Given the description of an element on the screen output the (x, y) to click on. 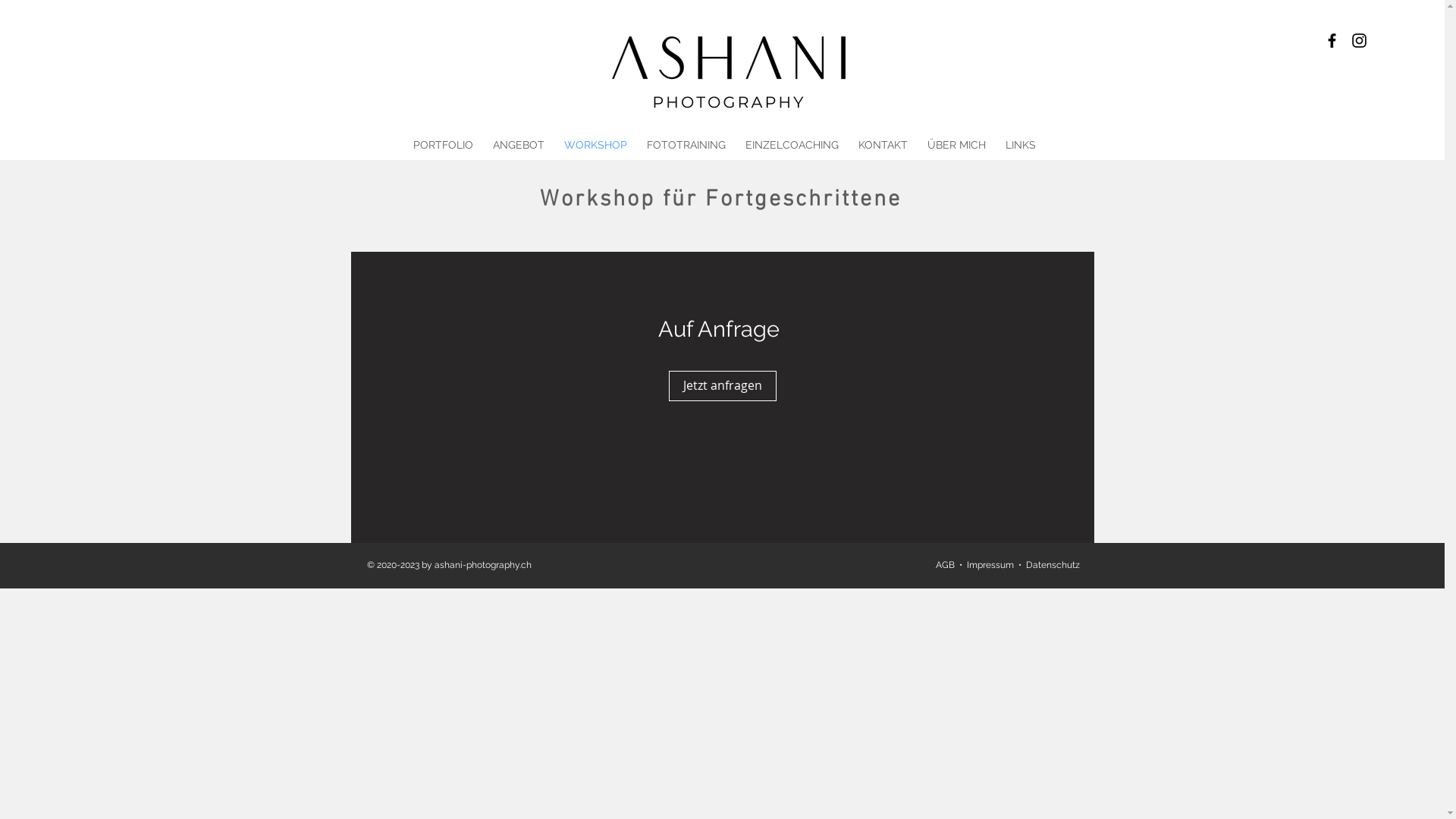
Datenschutz Element type: text (1052, 564)
Jetzt anfragen Element type: text (722, 385)
PORTFOLIO Element type: text (443, 144)
EINZELCOACHING Element type: text (791, 144)
ANGEBOT Element type: text (517, 144)
LINKS Element type: text (1019, 144)
WORKSHOP Element type: text (594, 144)
FOTOTRAINING Element type: text (686, 144)
KONTAKT Element type: text (881, 144)
AGB Element type: text (944, 564)
Impressum Element type: text (989, 564)
